Given the description of an element on the screen output the (x, y) to click on. 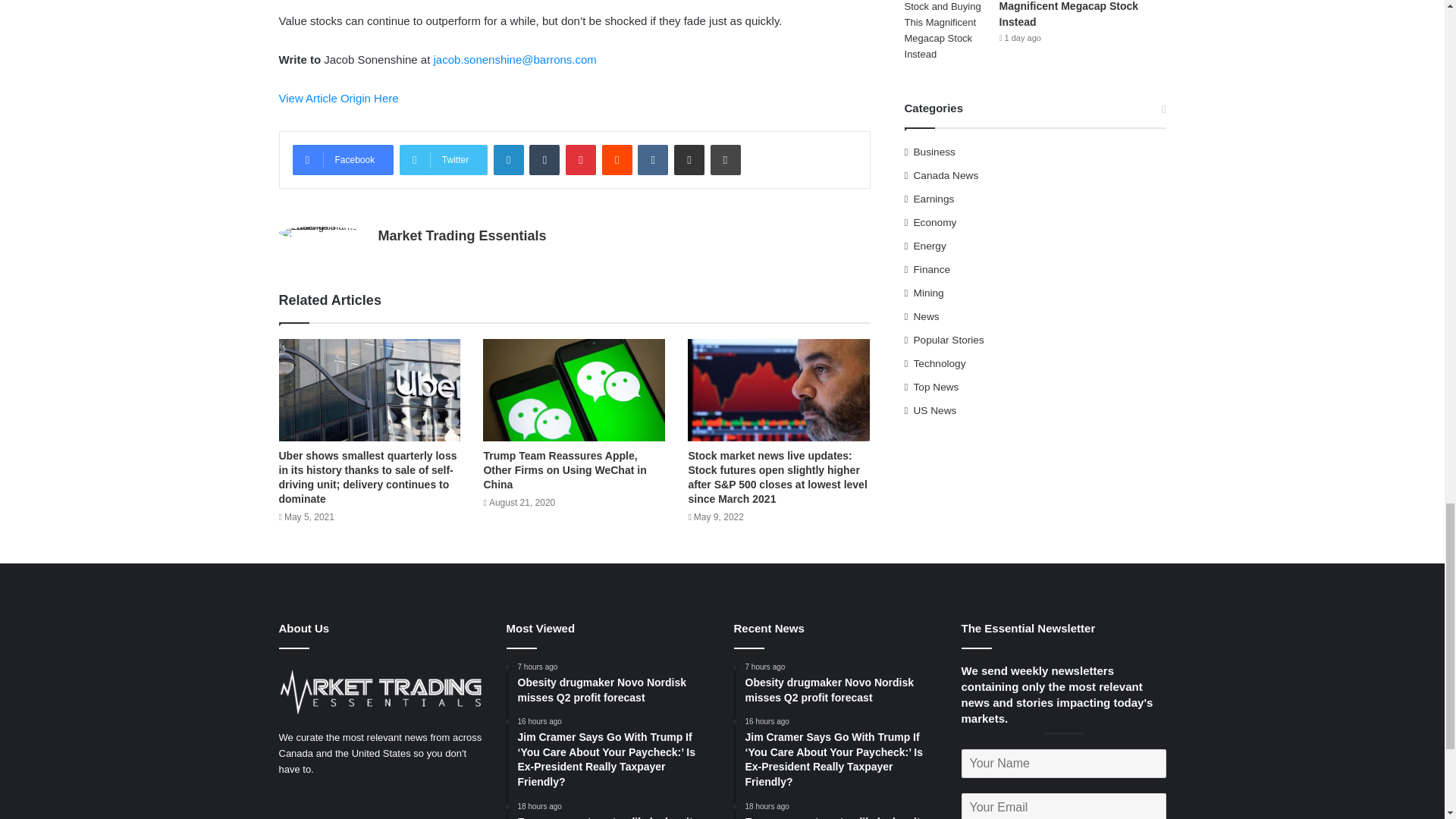
Share via Email (689, 159)
Print (725, 159)
Tumblr (544, 159)
VKontakte (652, 159)
Tumblr (544, 159)
Print (725, 159)
Facebook (343, 159)
View Article Origin Here (338, 97)
Twitter (442, 159)
